Given the description of an element on the screen output the (x, y) to click on. 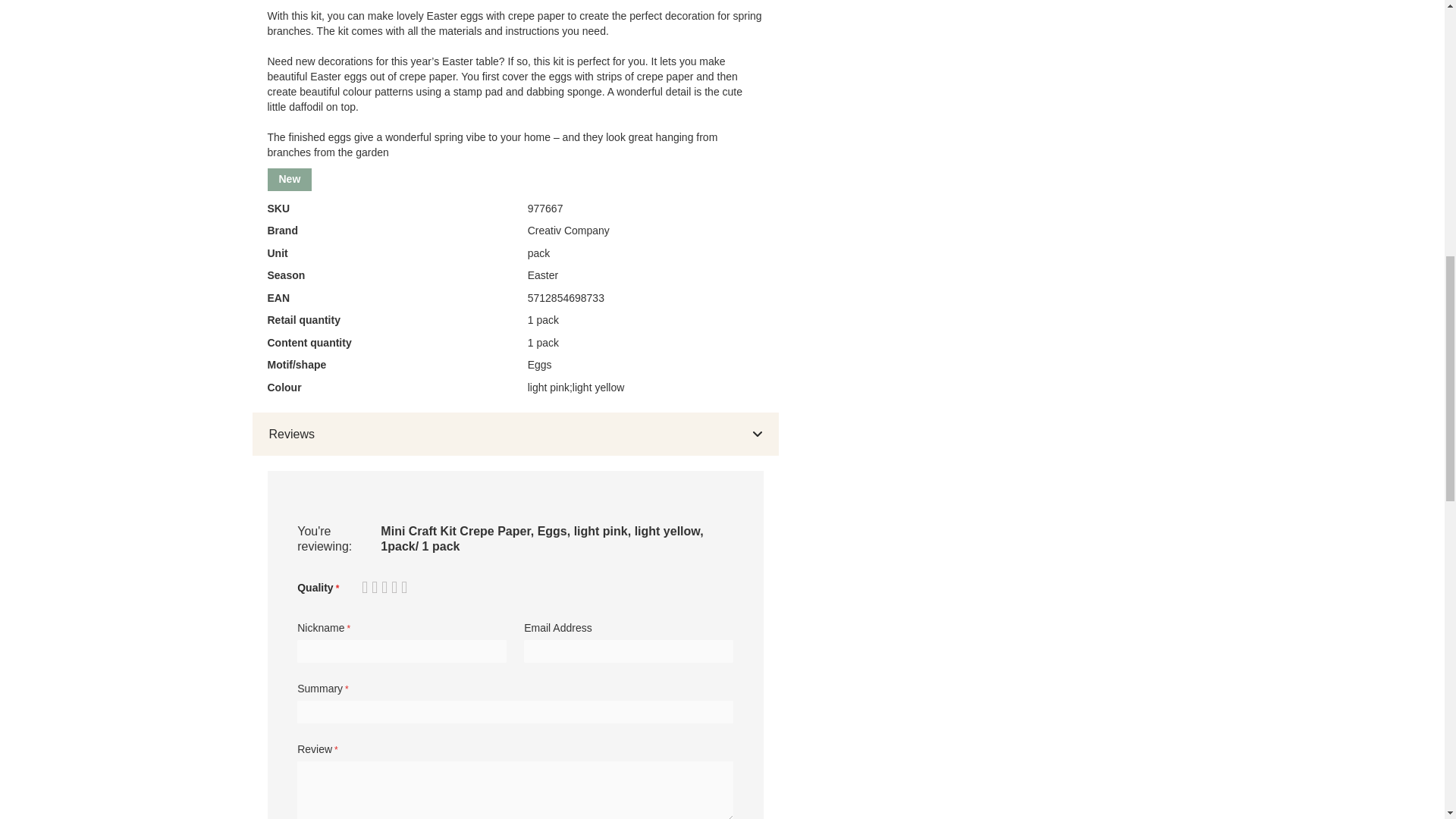
5 stars (385, 587)
2 stars (371, 587)
4 stars (381, 587)
3 stars (376, 587)
